Given the description of an element on the screen output the (x, y) to click on. 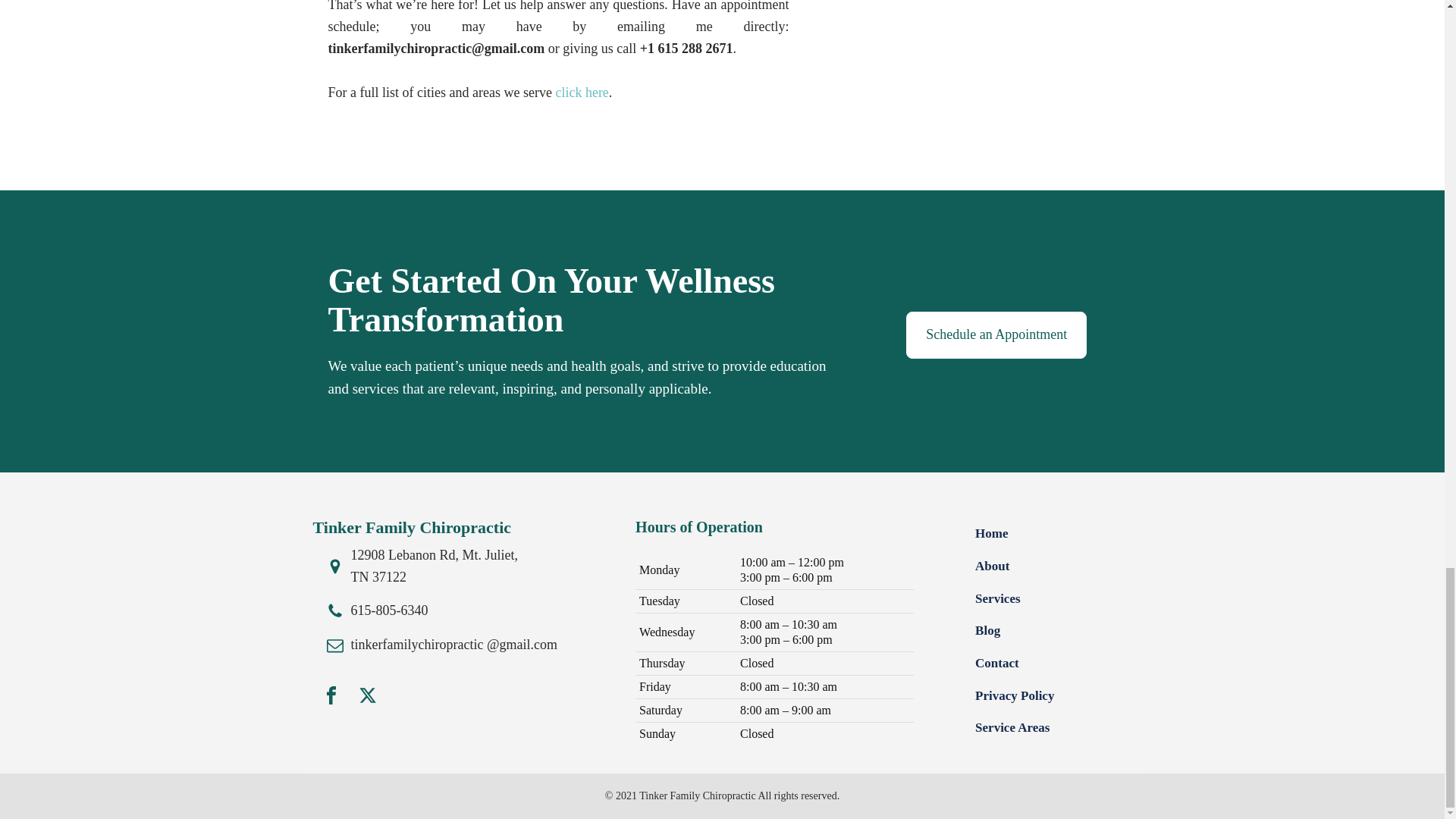
Contact (997, 663)
Schedule an Appointment (995, 335)
Privacy Policy (1014, 696)
About (992, 566)
Blog (987, 631)
Service Areas (1012, 728)
Services (997, 599)
click here (581, 92)
Home (991, 534)
